Given the description of an element on the screen output the (x, y) to click on. 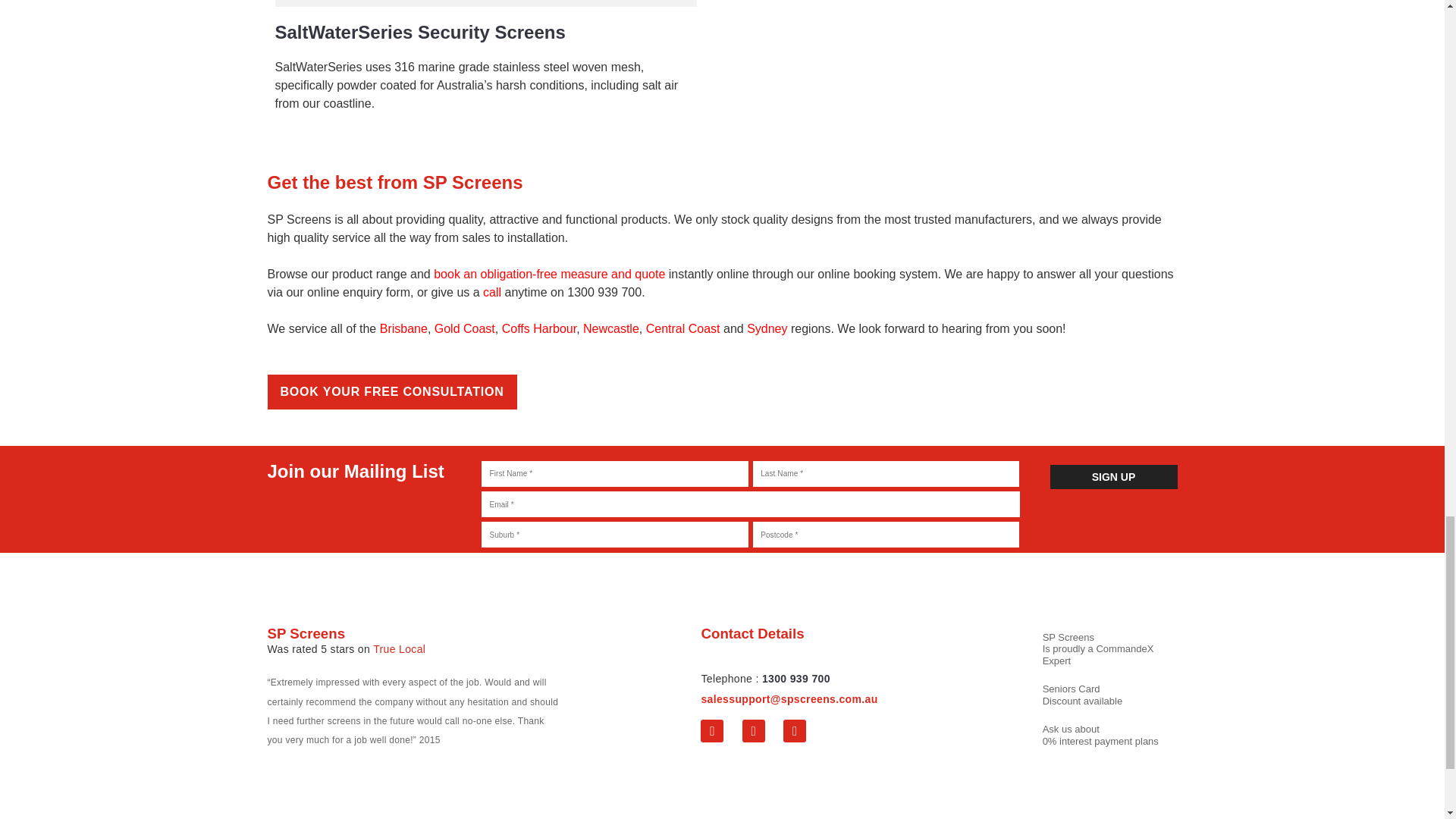
Sign Up (1112, 477)
